Given the description of an element on the screen output the (x, y) to click on. 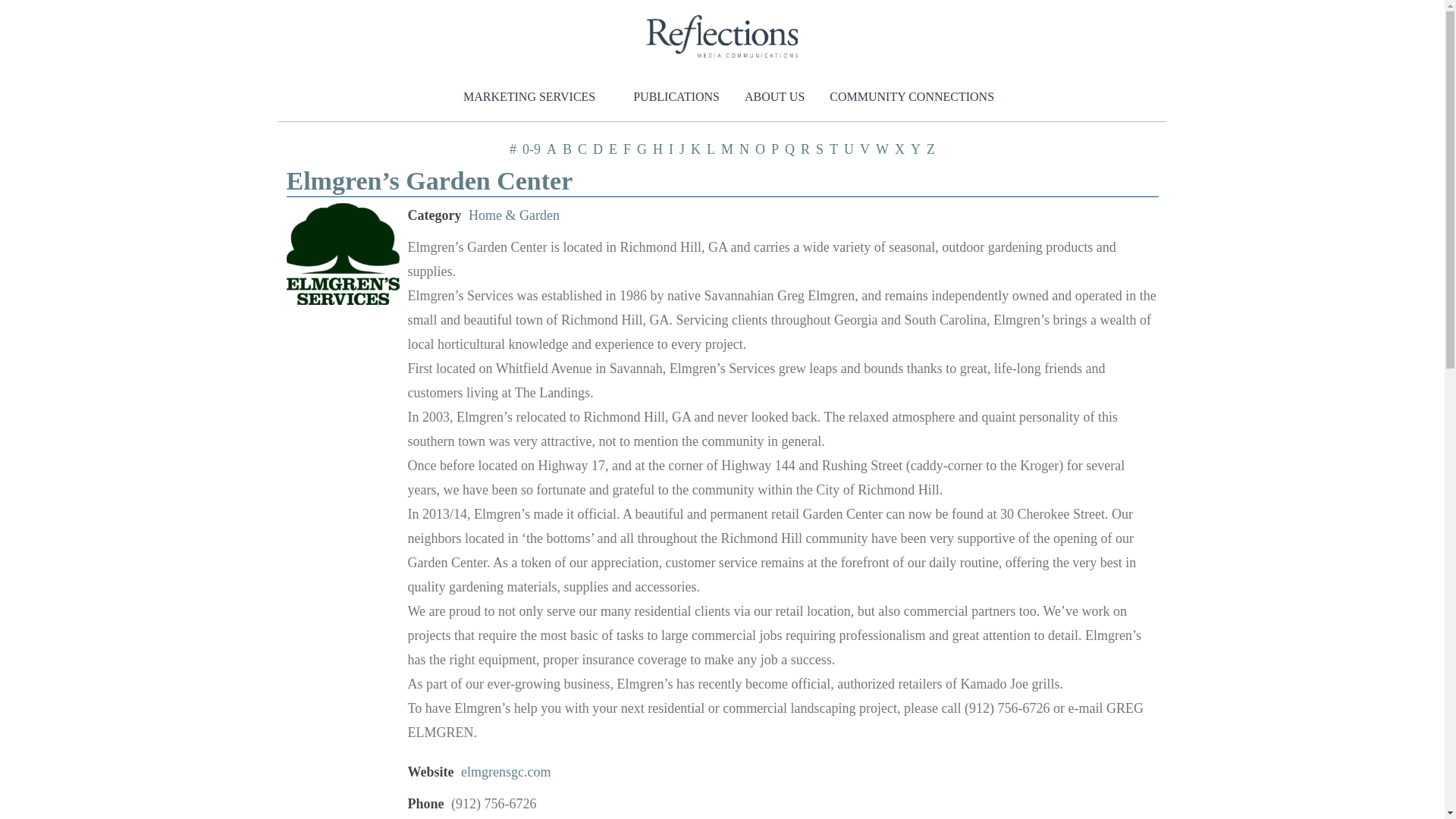
elmgrensgc.com (505, 771)
0-9 (531, 149)
MARKETING SERVICES (529, 96)
PUBLICATIONS (669, 96)
COMMUNITY CONNECTIONS (905, 96)
ABOUT US (767, 96)
